Given the description of an element on the screen output the (x, y) to click on. 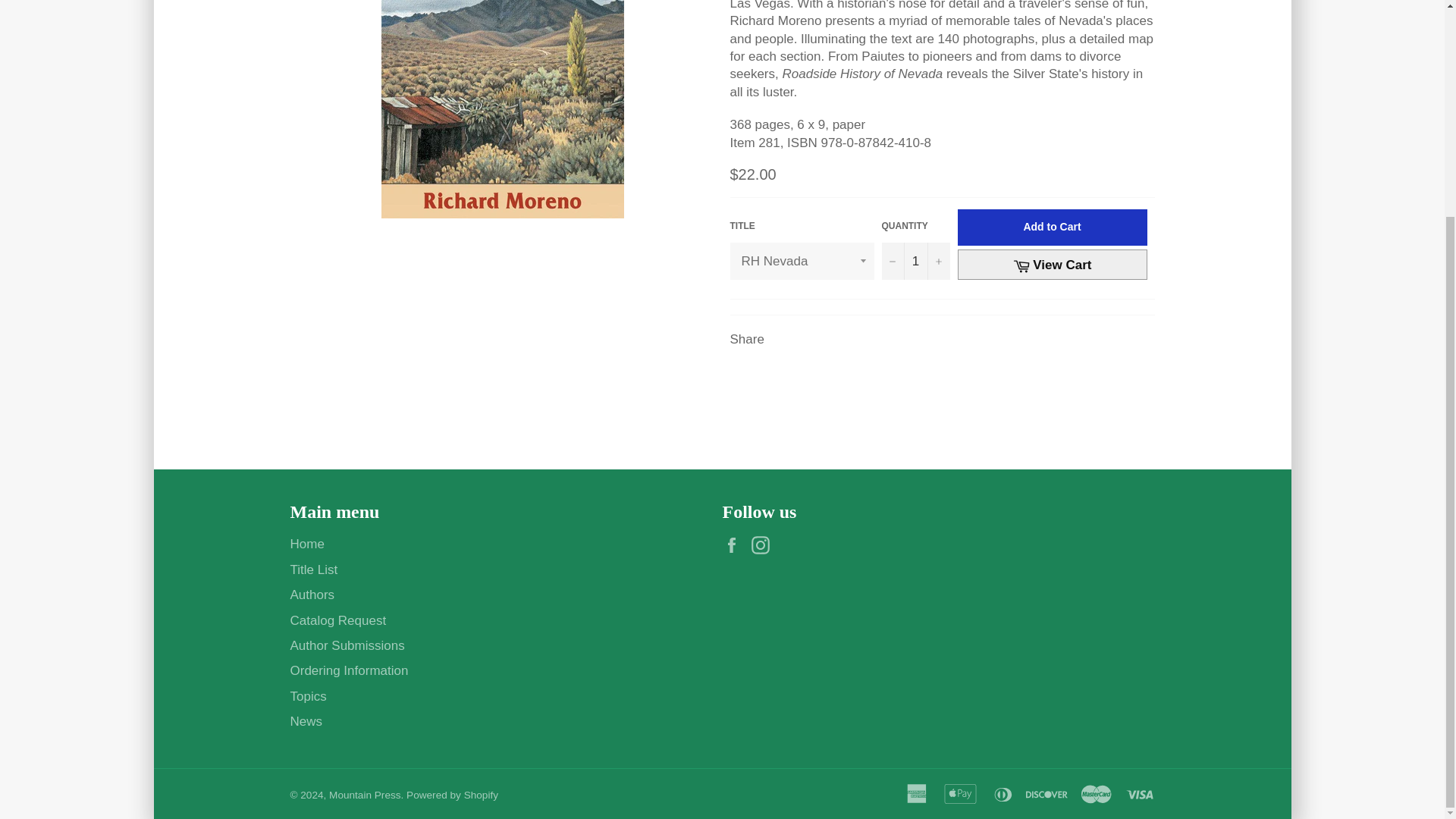
Mountain Press on Facebook (735, 544)
1 (914, 261)
Mountain Press on Instagram (764, 544)
